Given the description of an element on the screen output the (x, y) to click on. 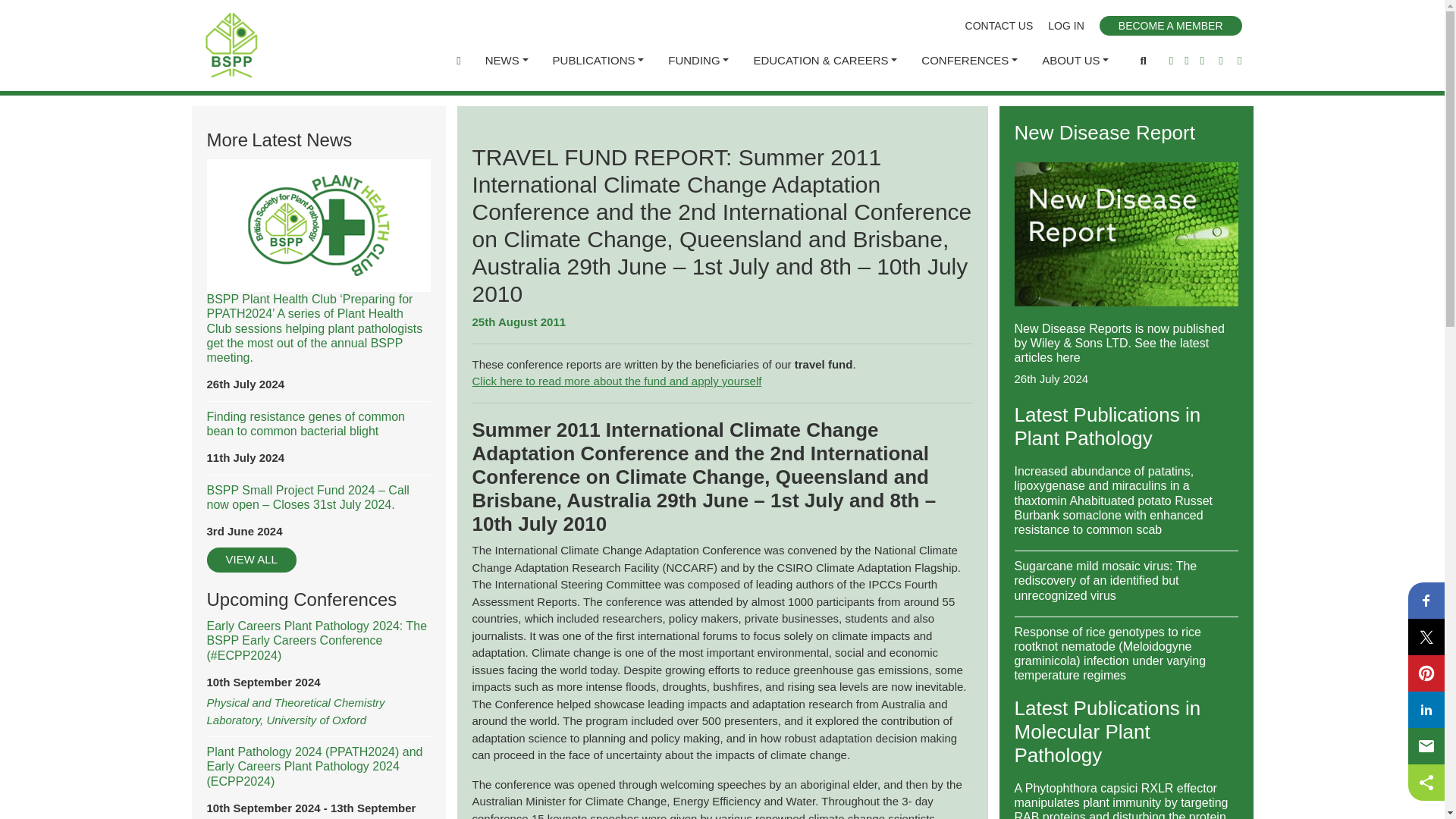
CONTACT US (999, 25)
Publications (598, 60)
PUBLICATIONS (598, 60)
FUNDING (697, 60)
NEWS (507, 60)
BECOME A MEMBER (1170, 25)
News (507, 60)
LOG IN (1065, 25)
